Given the description of an element on the screen output the (x, y) to click on. 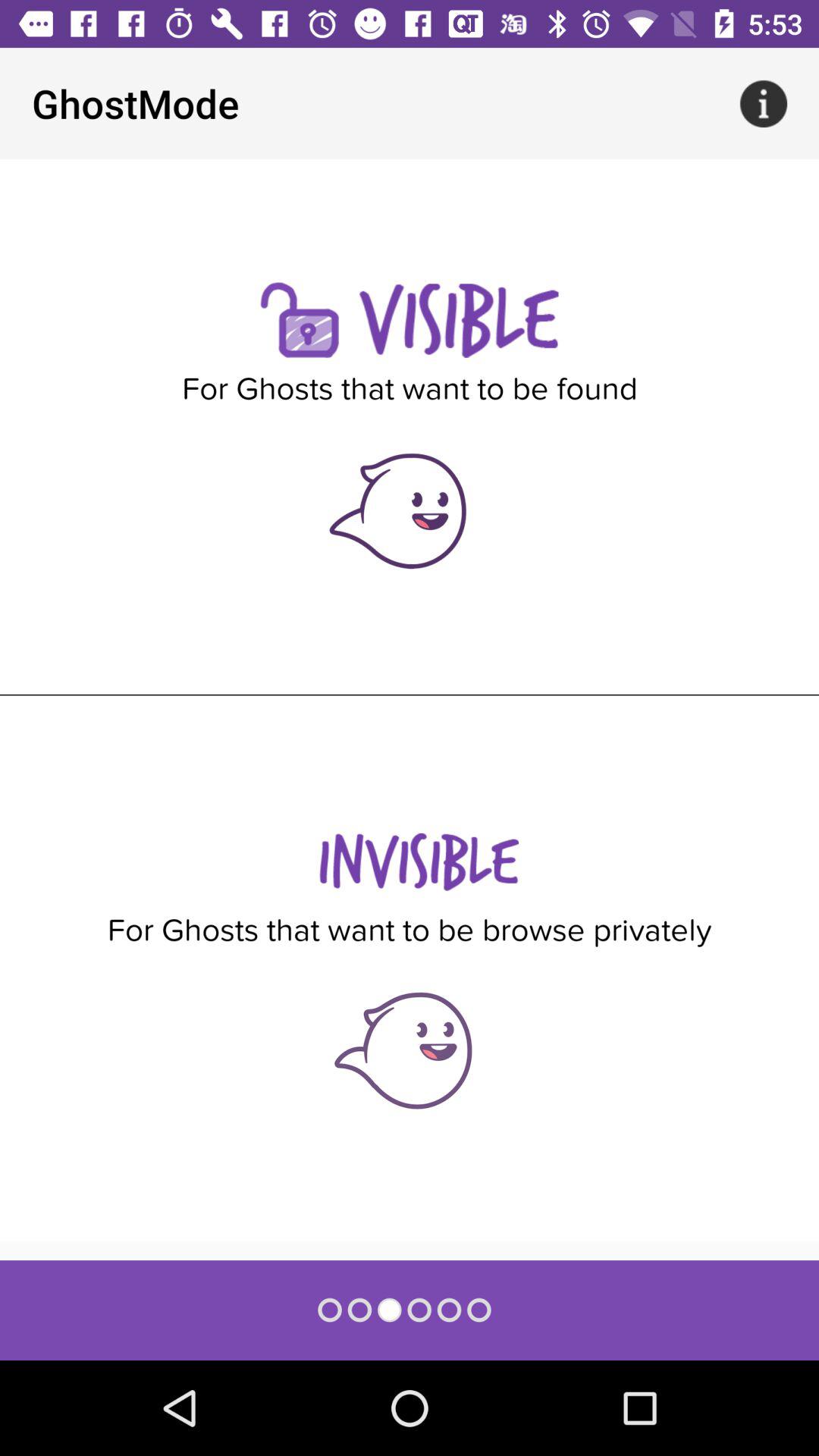
press item at the top right corner (763, 103)
